Given the description of an element on the screen output the (x, y) to click on. 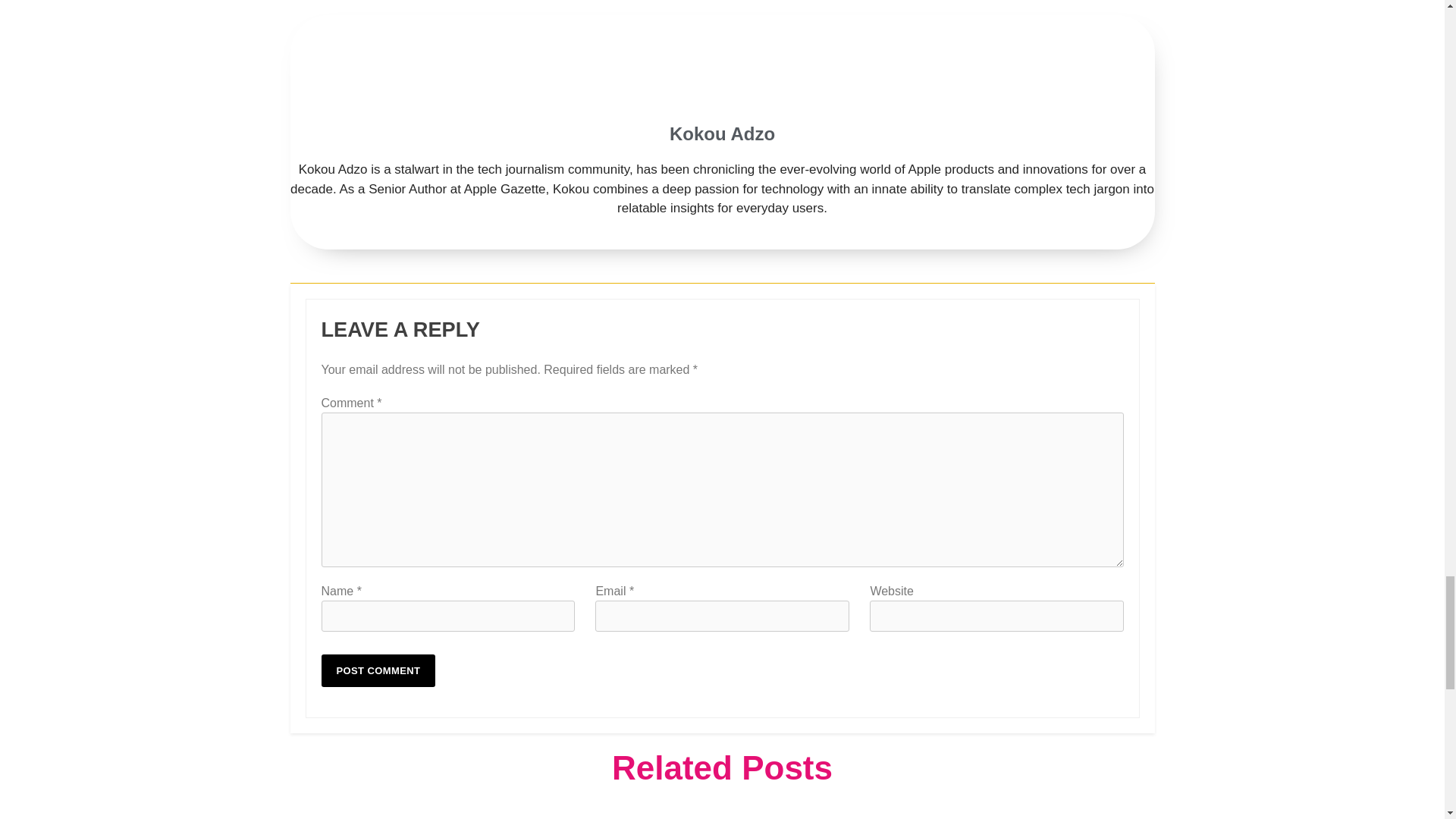
Post Comment (378, 670)
